Given the description of an element on the screen output the (x, y) to click on. 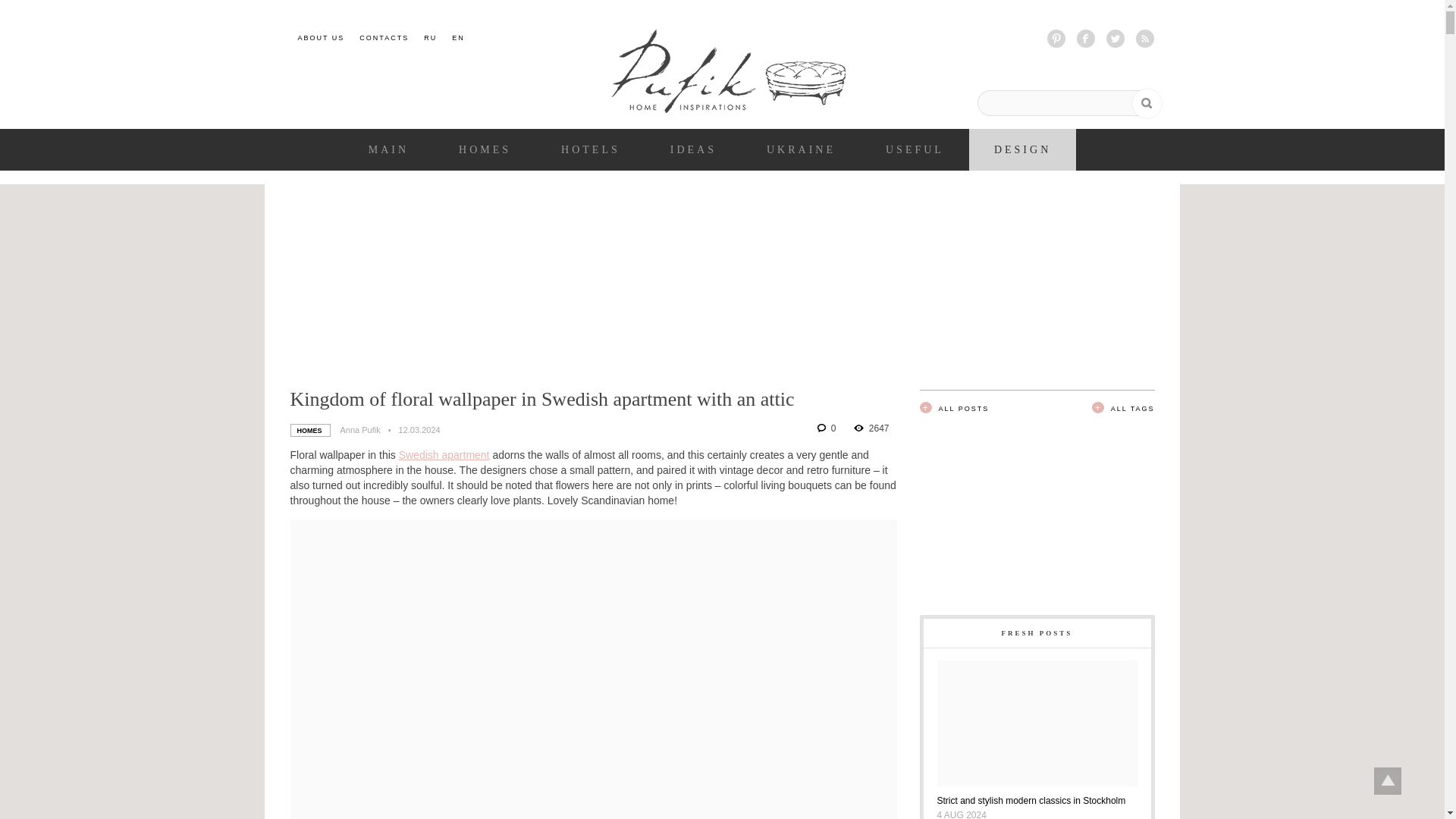
IDEAS (692, 149)
RU (429, 37)
Views (871, 428)
MAIN (388, 149)
HOTELS (590, 149)
Comments (825, 428)
Strict and stylish modern classics in Stockholm (1037, 798)
HOMES (309, 430)
EN (457, 37)
ABOUT US (320, 37)
DESIGN (1022, 149)
HOMES (484, 149)
Swedish apartment (443, 454)
CONTACTS (384, 37)
